Given the description of an element on the screen output the (x, y) to click on. 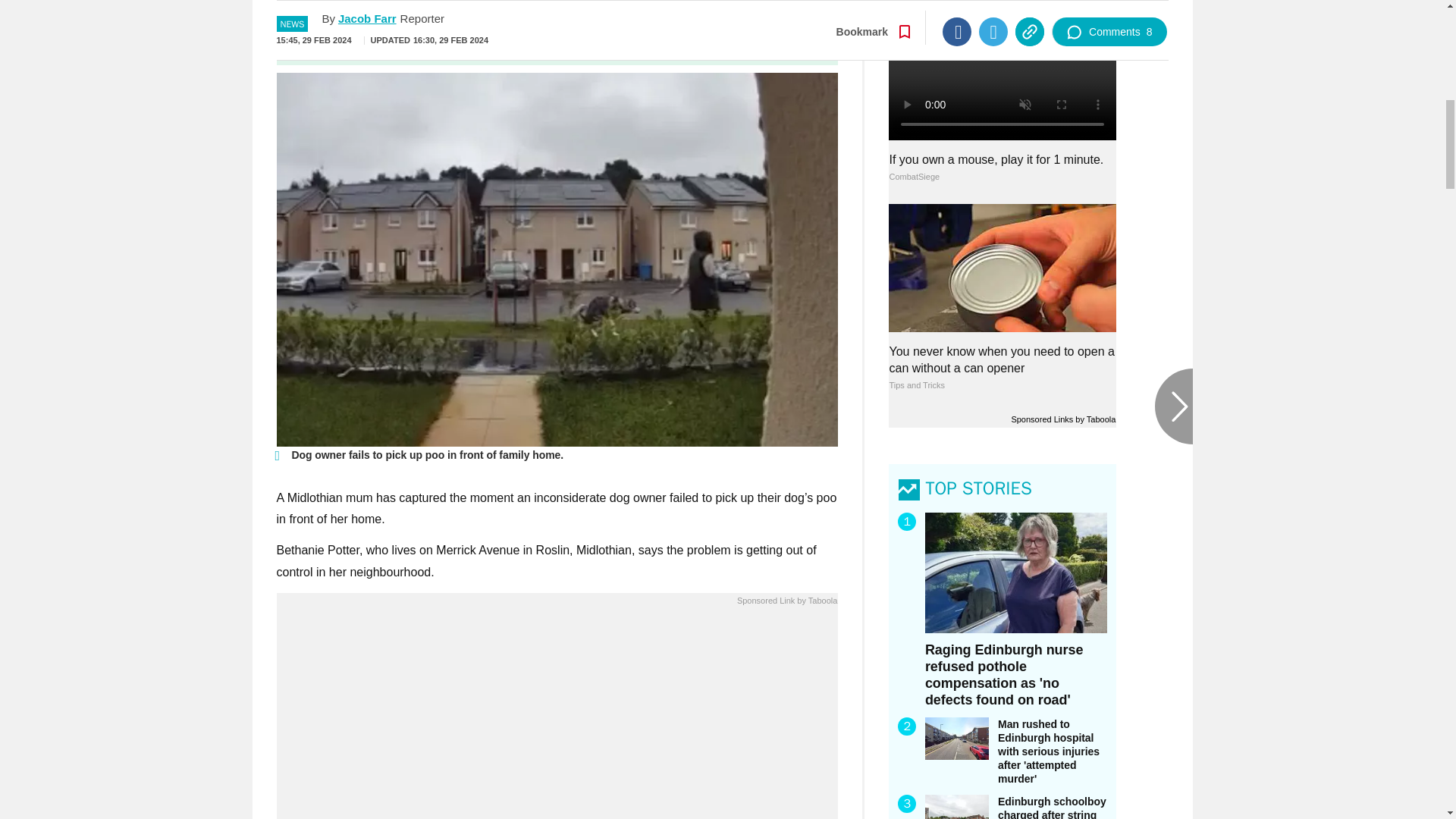
Use an AI Writing Tool That Actually Understands Your Voice (557, 717)
Go (730, 38)
